Given the description of an element on the screen output the (x, y) to click on. 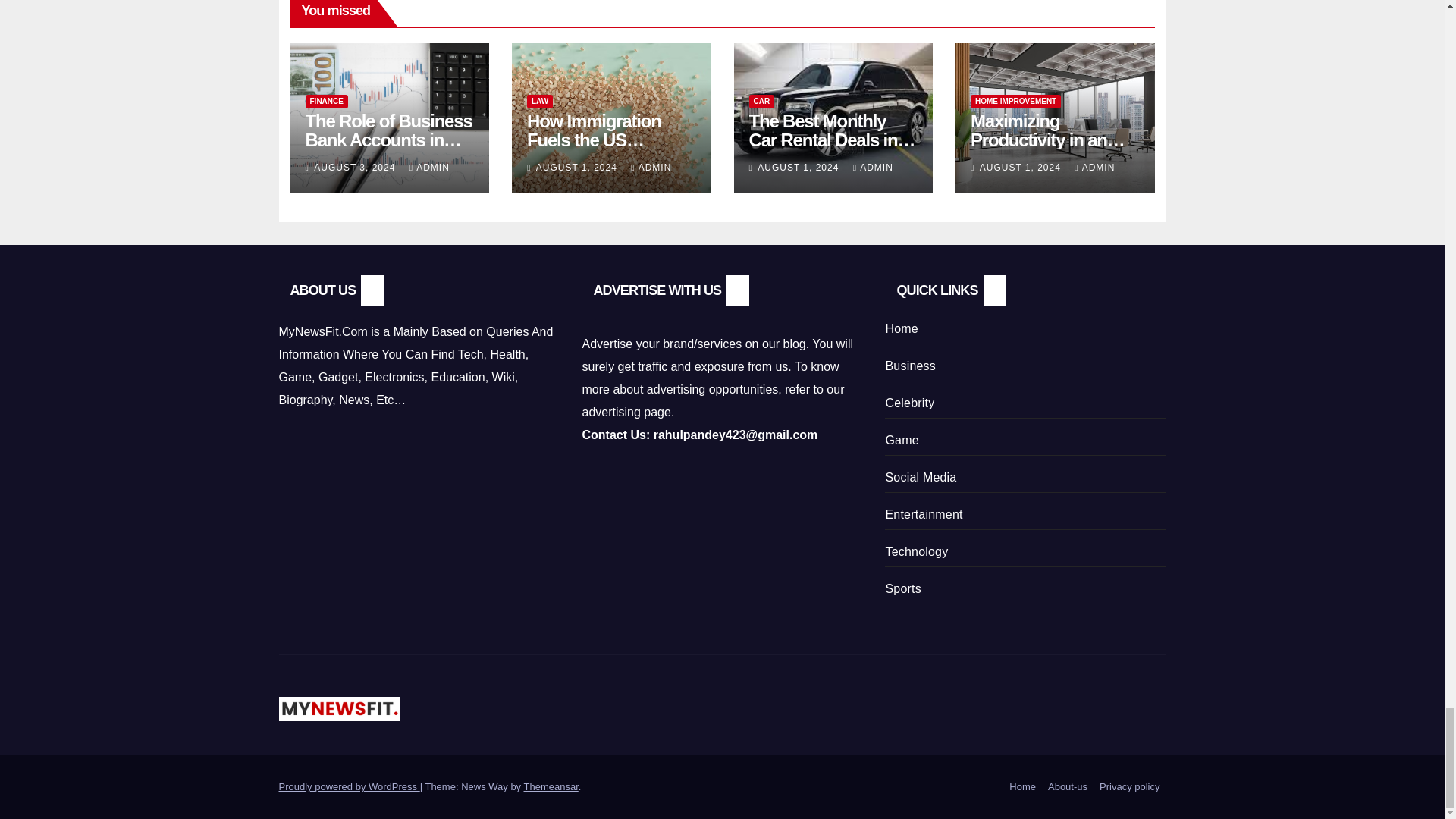
Permalink to: How Immigration Fuels the US Economy (594, 139)
Permalink to: The Best Monthly Car Rental Deals in Dubai (832, 139)
